Given the description of an element on the screen output the (x, y) to click on. 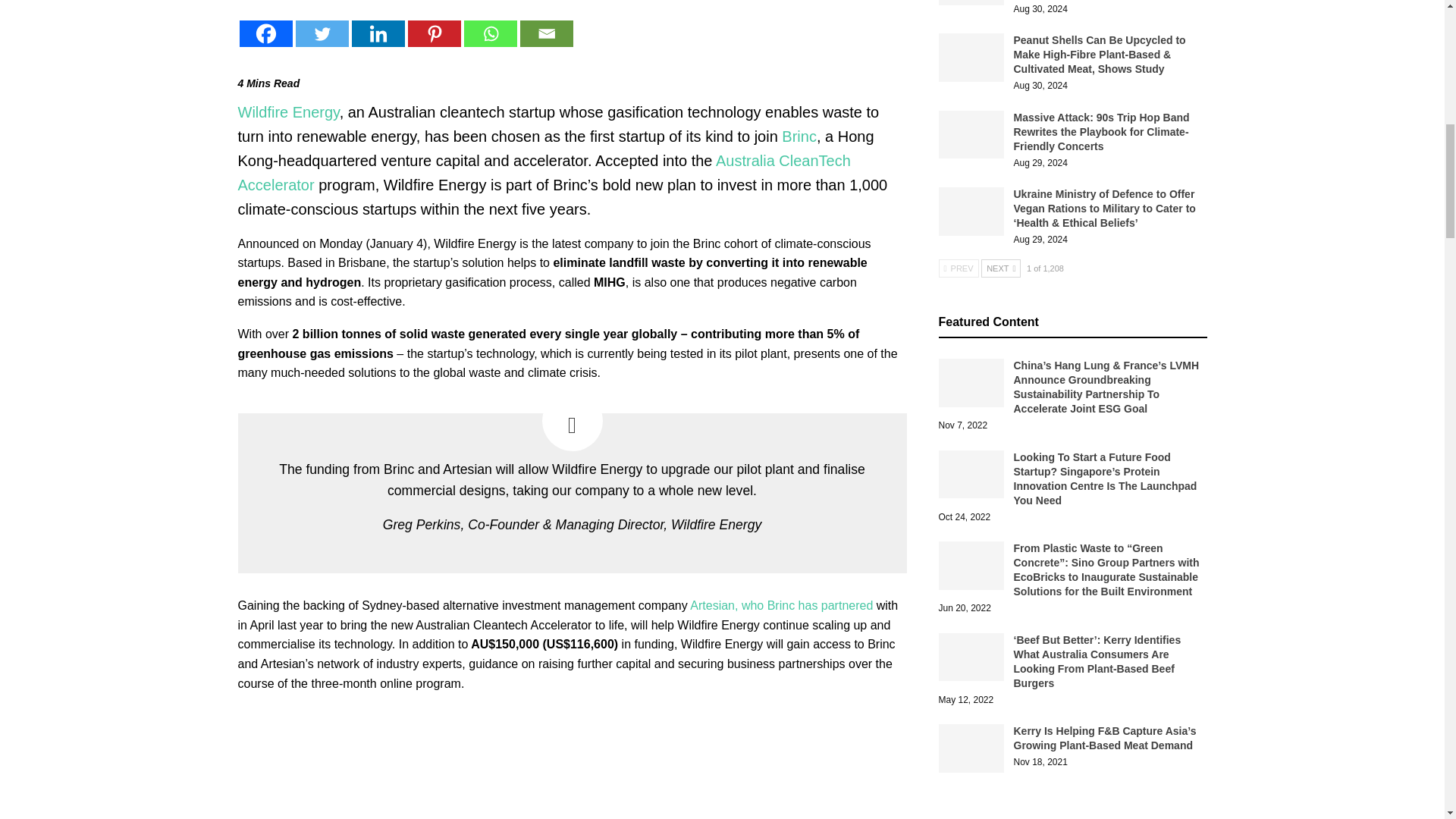
Pinterest (434, 33)
Email (546, 33)
Artesian, who Brinc has partnered (781, 604)
Brinc (798, 135)
Whatsapp (490, 33)
Facebook (266, 33)
Twitter (322, 33)
Australia CleanTech Accelerator (544, 172)
Linkedin (378, 33)
Wildfire Energy (288, 112)
